Given the description of an element on the screen output the (x, y) to click on. 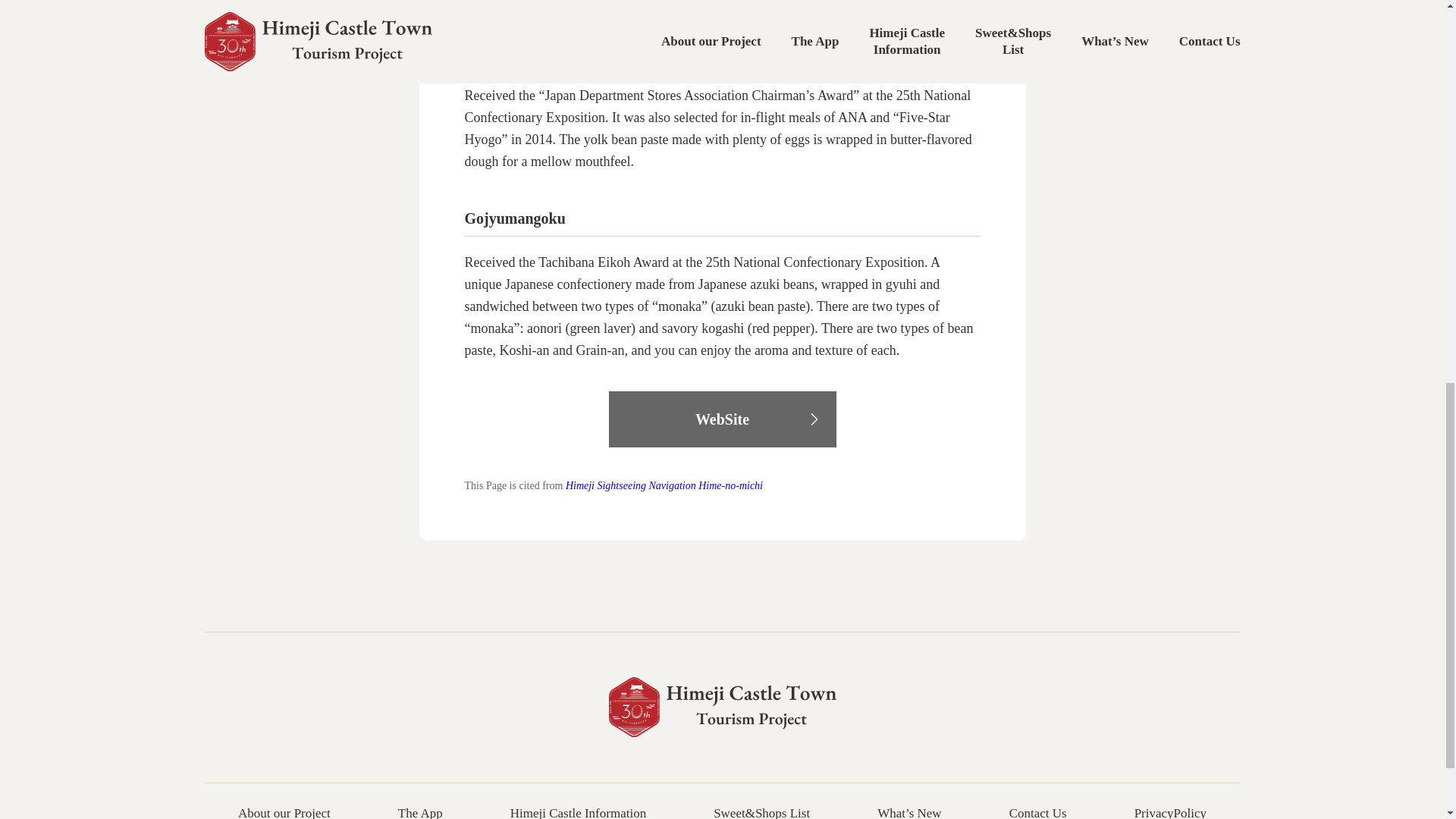
WebSite (721, 419)
Himeji Sightseeing Navigation Hime-no-michi (664, 485)
